Given the description of an element on the screen output the (x, y) to click on. 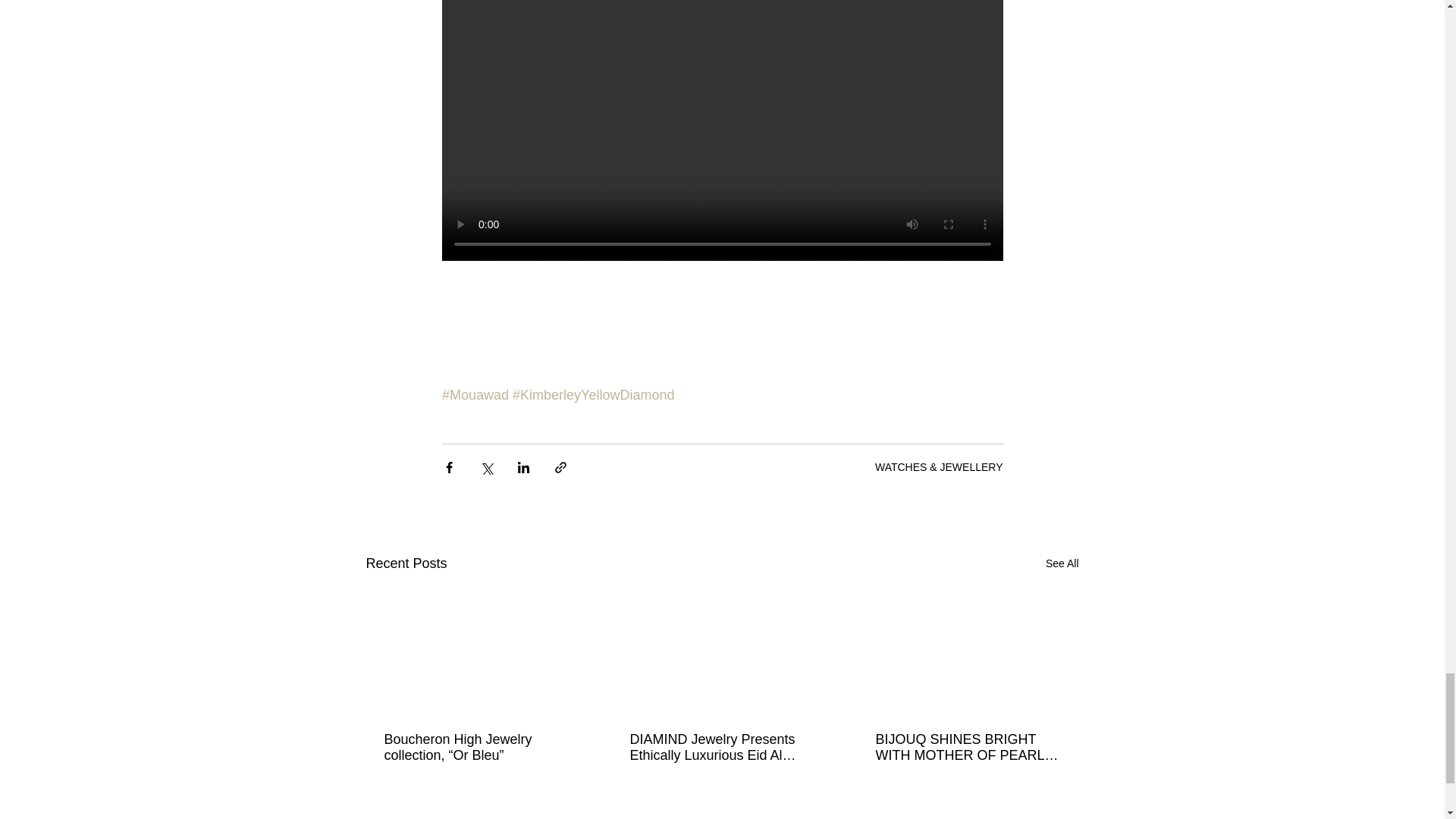
See All (1061, 563)
